Given the description of an element on the screen output the (x, y) to click on. 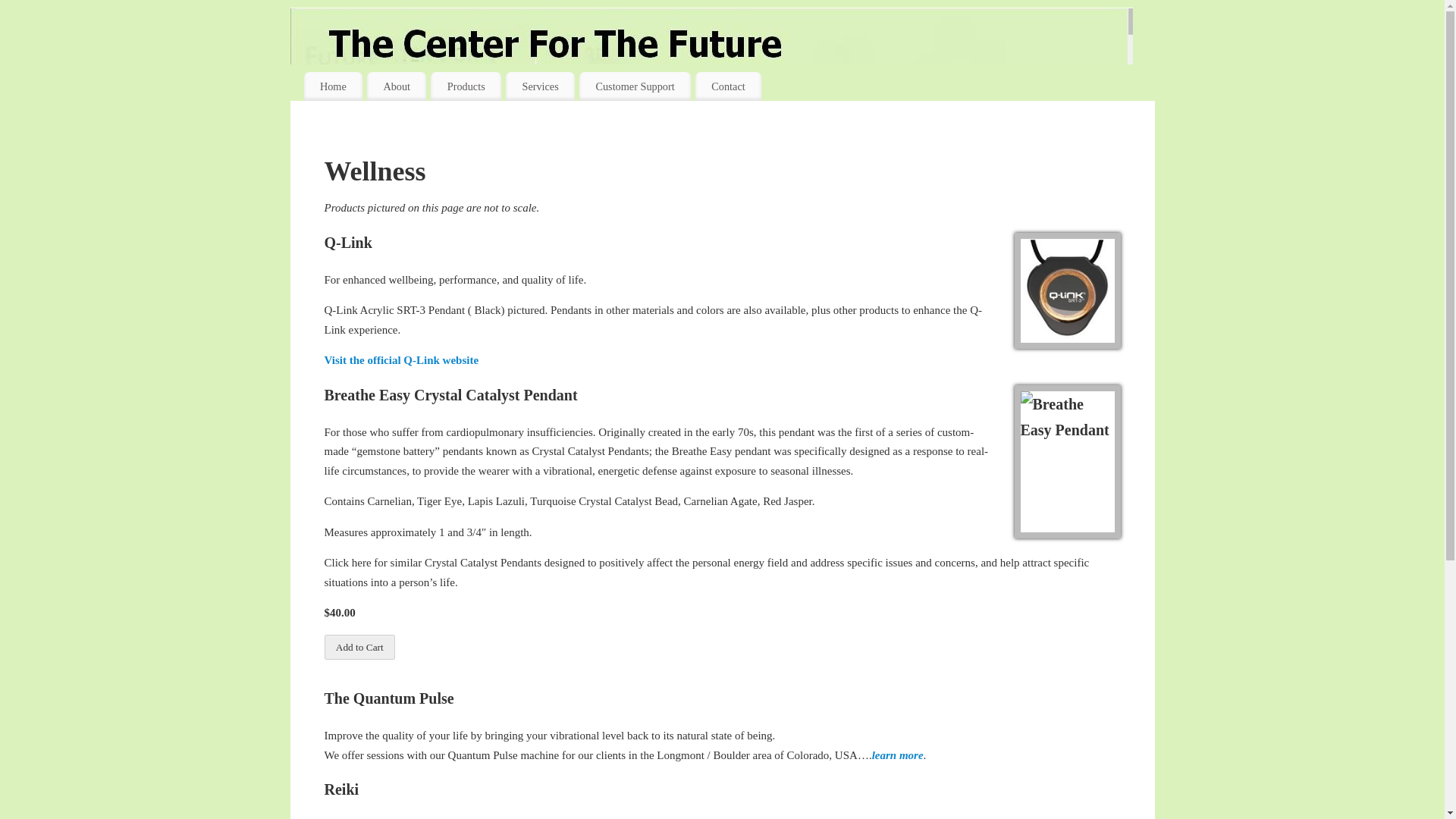
learn more (897, 755)
Quantum Pulse (897, 755)
Customer Support (634, 86)
Home (332, 86)
Add to Cart (360, 647)
Services (540, 86)
Add to Cart (360, 647)
Breathe Easy Pendant (1067, 461)
Contact (728, 86)
Visit the official Q-Link website (401, 359)
Products (465, 86)
About (396, 86)
